Given the description of an element on the screen output the (x, y) to click on. 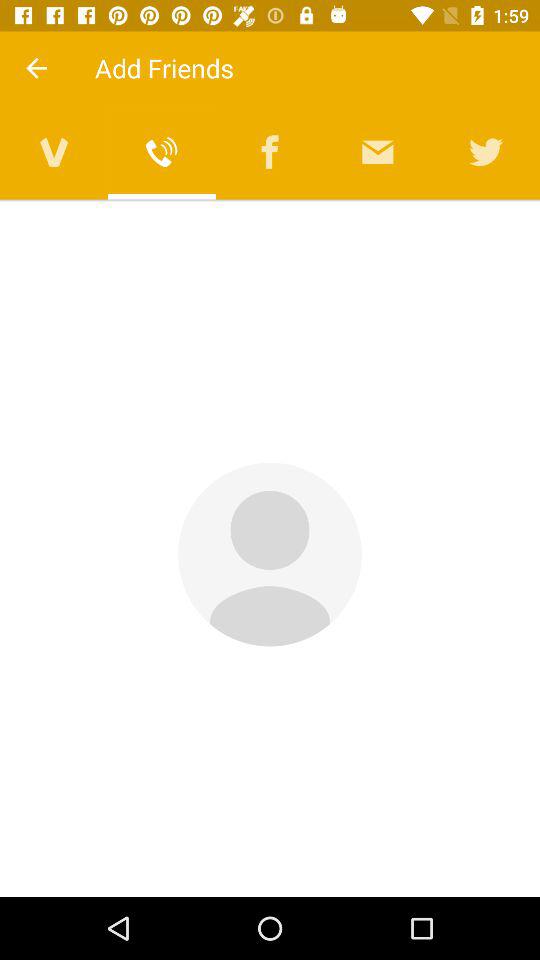
go to facebook (270, 152)
